Given the description of an element on the screen output the (x, y) to click on. 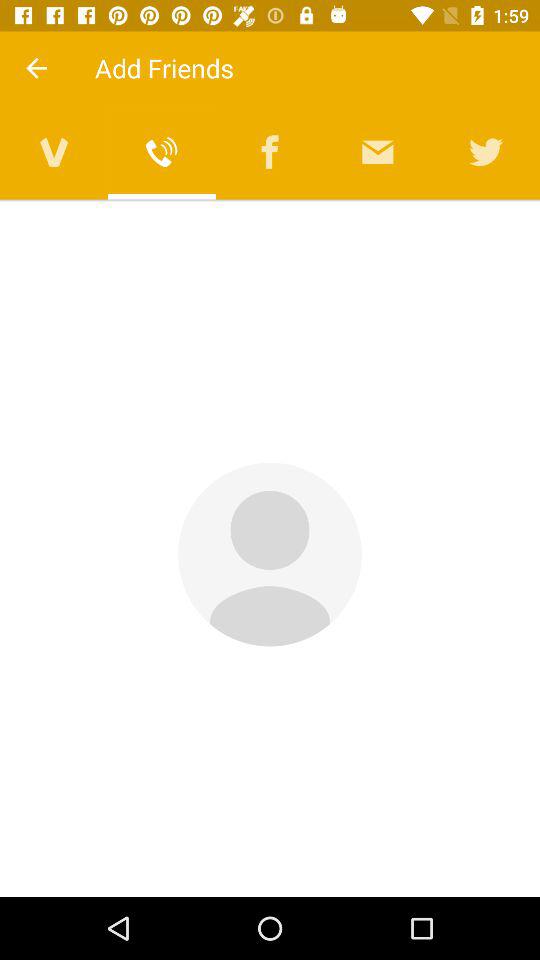
go to facebook (270, 152)
